Given the description of an element on the screen output the (x, y) to click on. 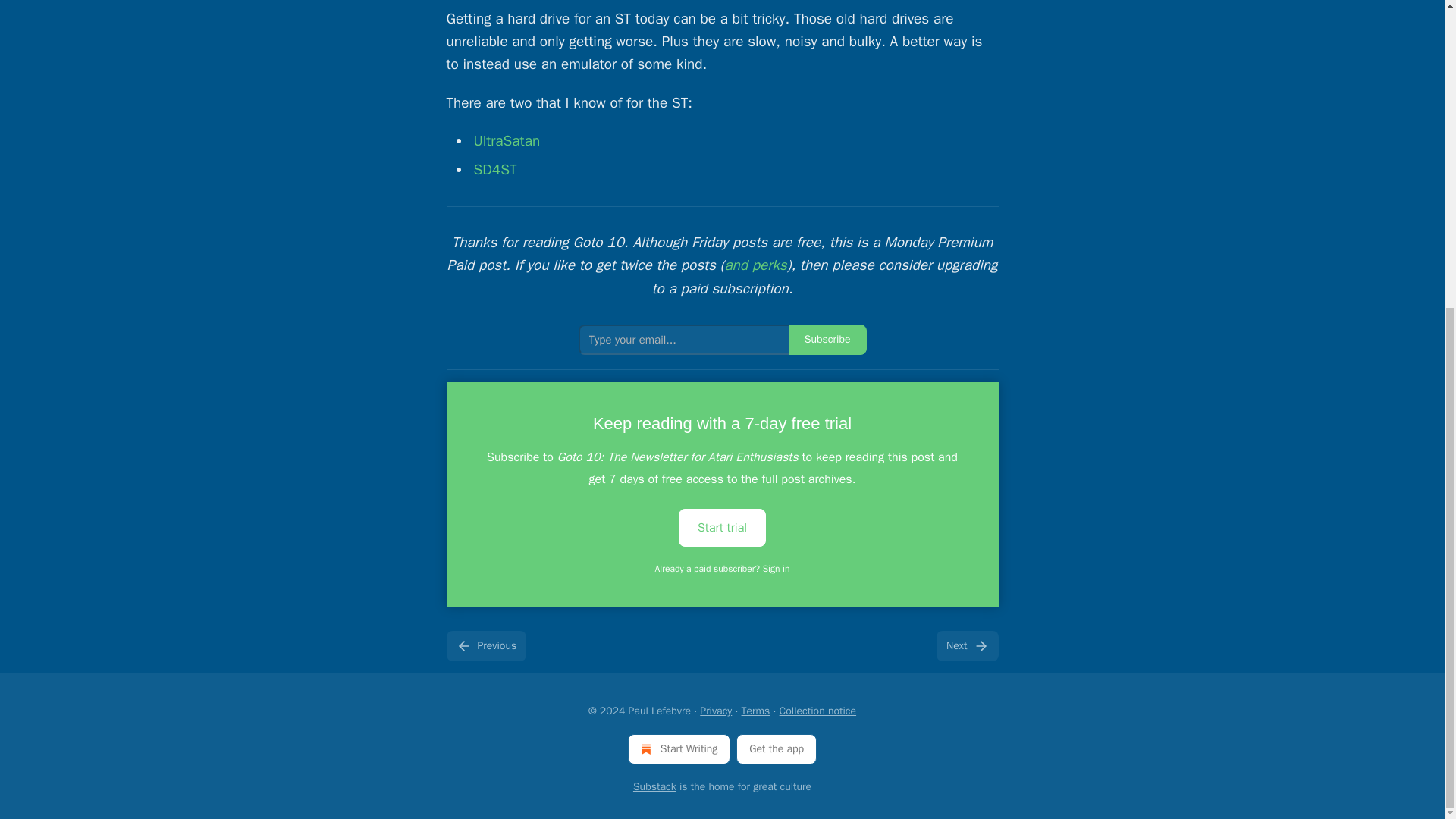
UltraSatan (506, 140)
Already a paid subscriber? Sign in (722, 568)
Start Writing (678, 748)
and perks (754, 265)
Start trial (721, 526)
Get the app (776, 748)
Collection notice (817, 710)
Previous (485, 645)
SD4ST (494, 169)
Next (966, 645)
Subscribe (827, 339)
Terms (755, 710)
Privacy (716, 710)
Substack (655, 786)
Start trial (721, 527)
